Given the description of an element on the screen output the (x, y) to click on. 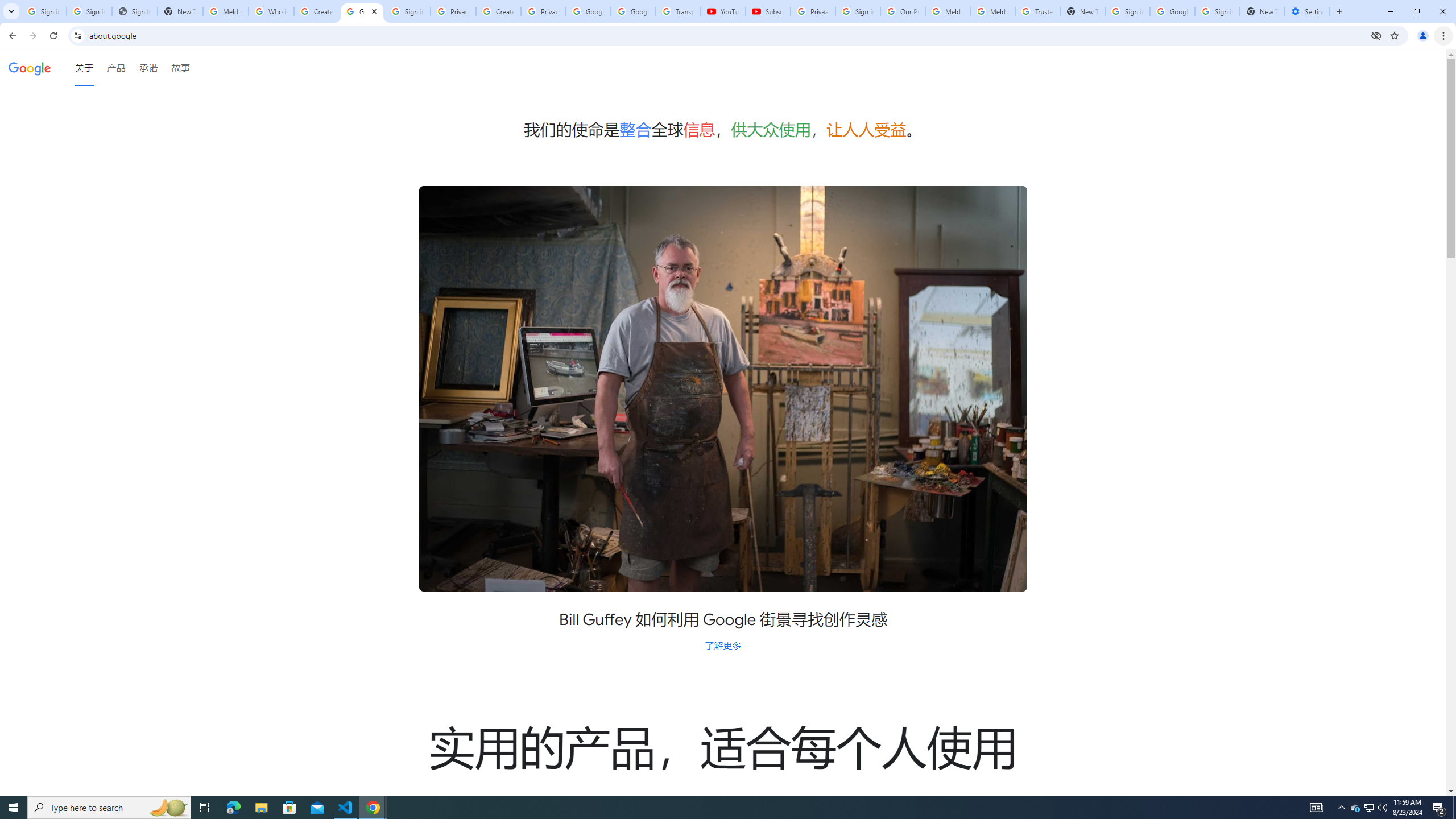
Trusted Information and Content - Google Safety Center (1037, 11)
Sign In - USA TODAY (134, 11)
Google (29, 67)
New Tab (1262, 11)
Sign in - Google Accounts (407, 11)
Sign in - Google Accounts (1216, 11)
